Given the description of an element on the screen output the (x, y) to click on. 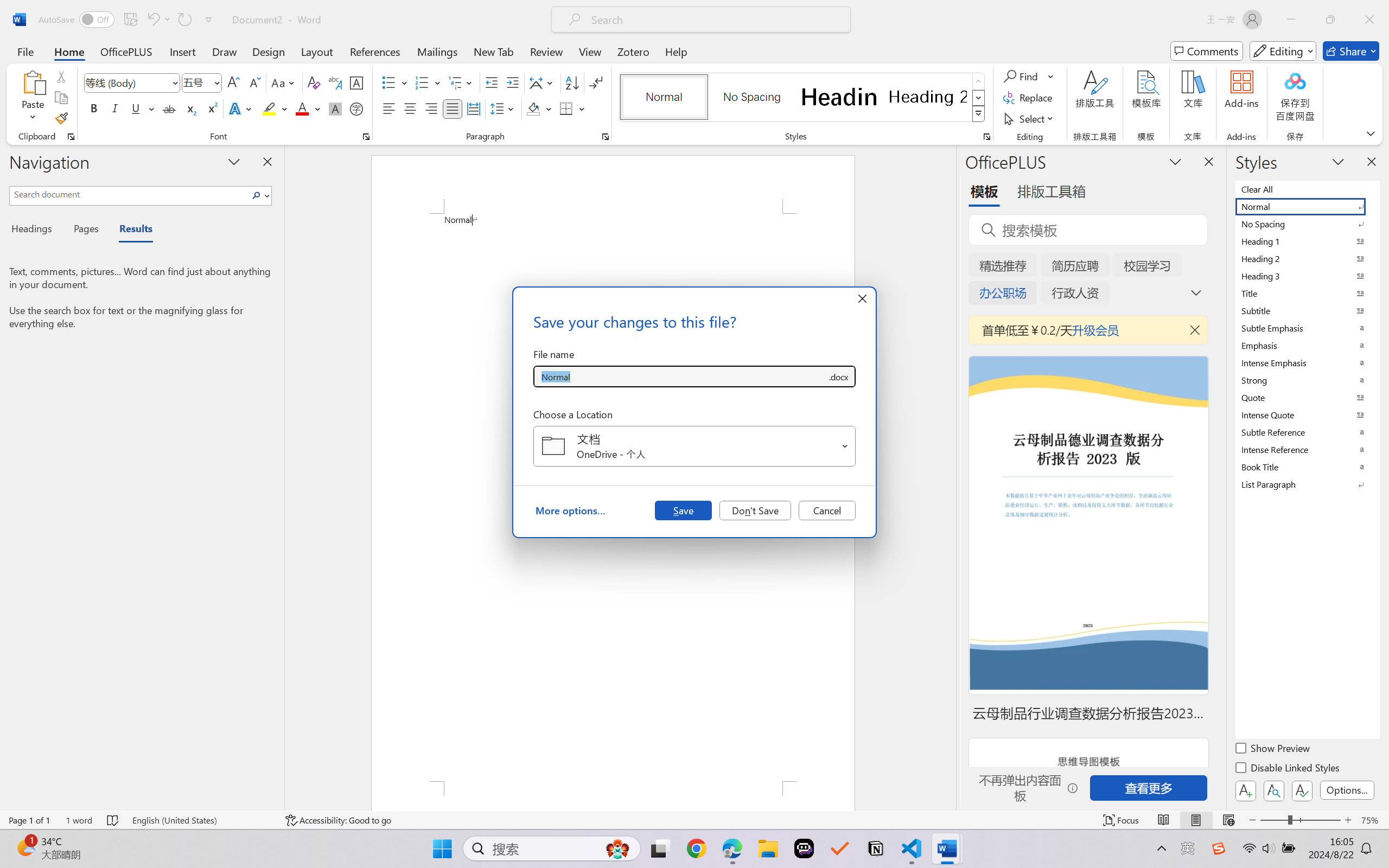
Underline (135, 108)
Undo Apply Quick Style (158, 19)
Comments (1206, 50)
Intense Quote (1306, 414)
Subtle Reference (1306, 431)
Microsoft search (715, 19)
OfficePLUS (126, 51)
AutomationID: DynamicSearchBoxGleamImage (617, 848)
Cut (60, 75)
Web Layout (1228, 819)
Class: NetUIButton (1301, 790)
Heading 1 (839, 96)
Line and Paragraph Spacing (503, 108)
